Given the description of an element on the screen output the (x, y) to click on. 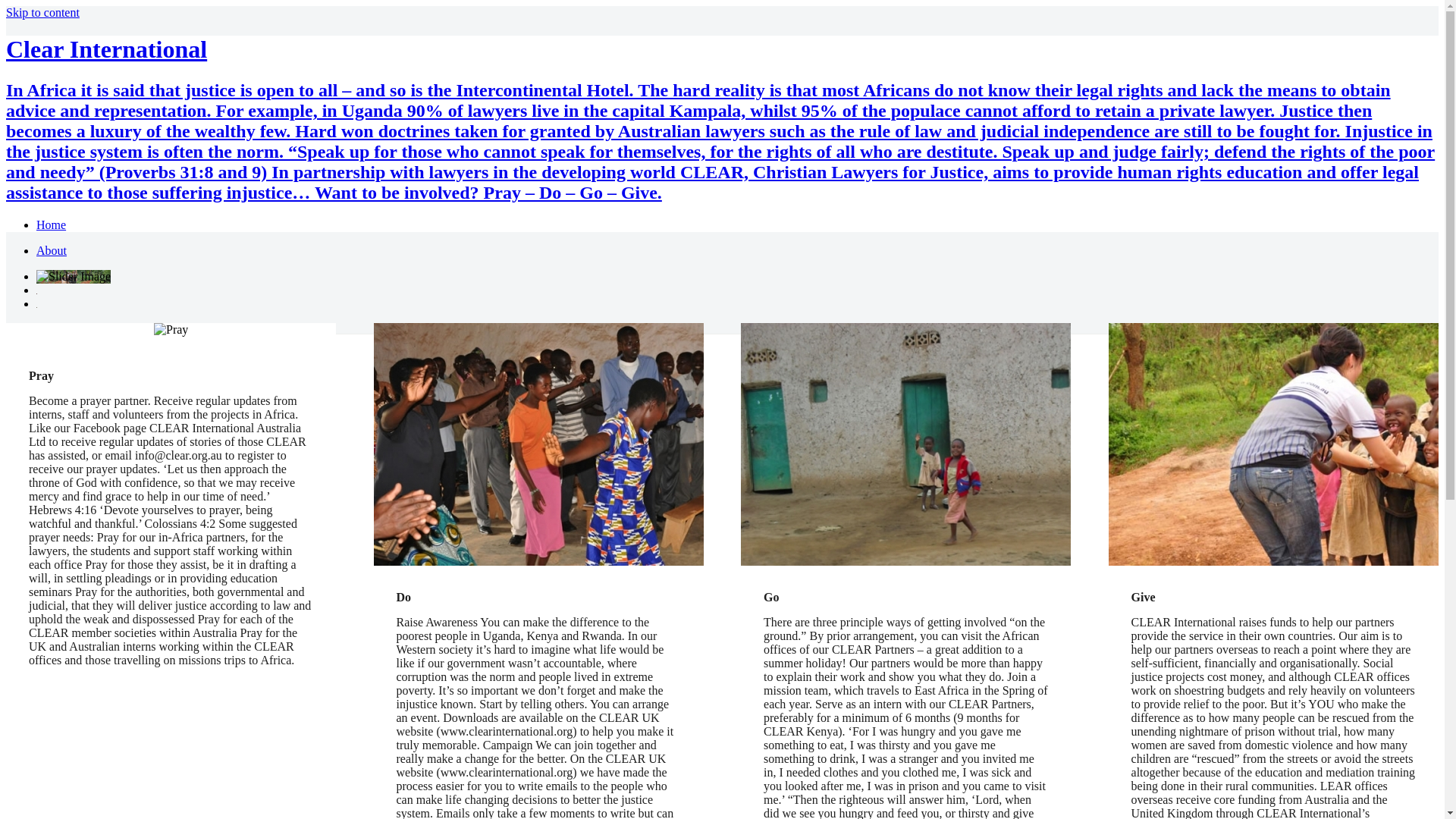
About Element type: text (51, 250)
Home Element type: text (50, 224)
Skip to content Element type: text (42, 12)
